Given the description of an element on the screen output the (x, y) to click on. 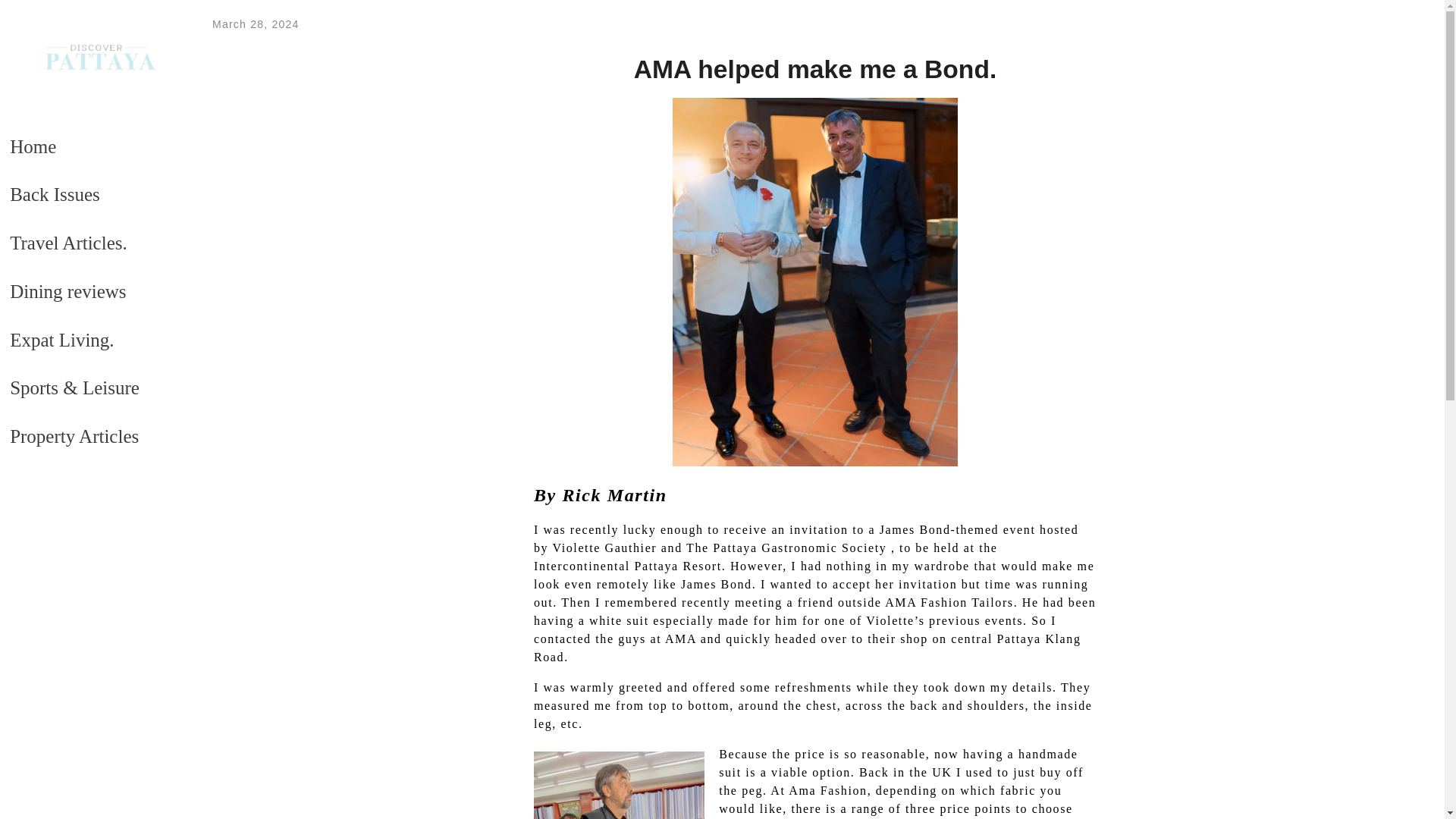
Pattaya Trader (99, 76)
Expat Living. (93, 133)
Dining reviews (93, 59)
Property Articles (93, 307)
